Given the description of an element on the screen output the (x, y) to click on. 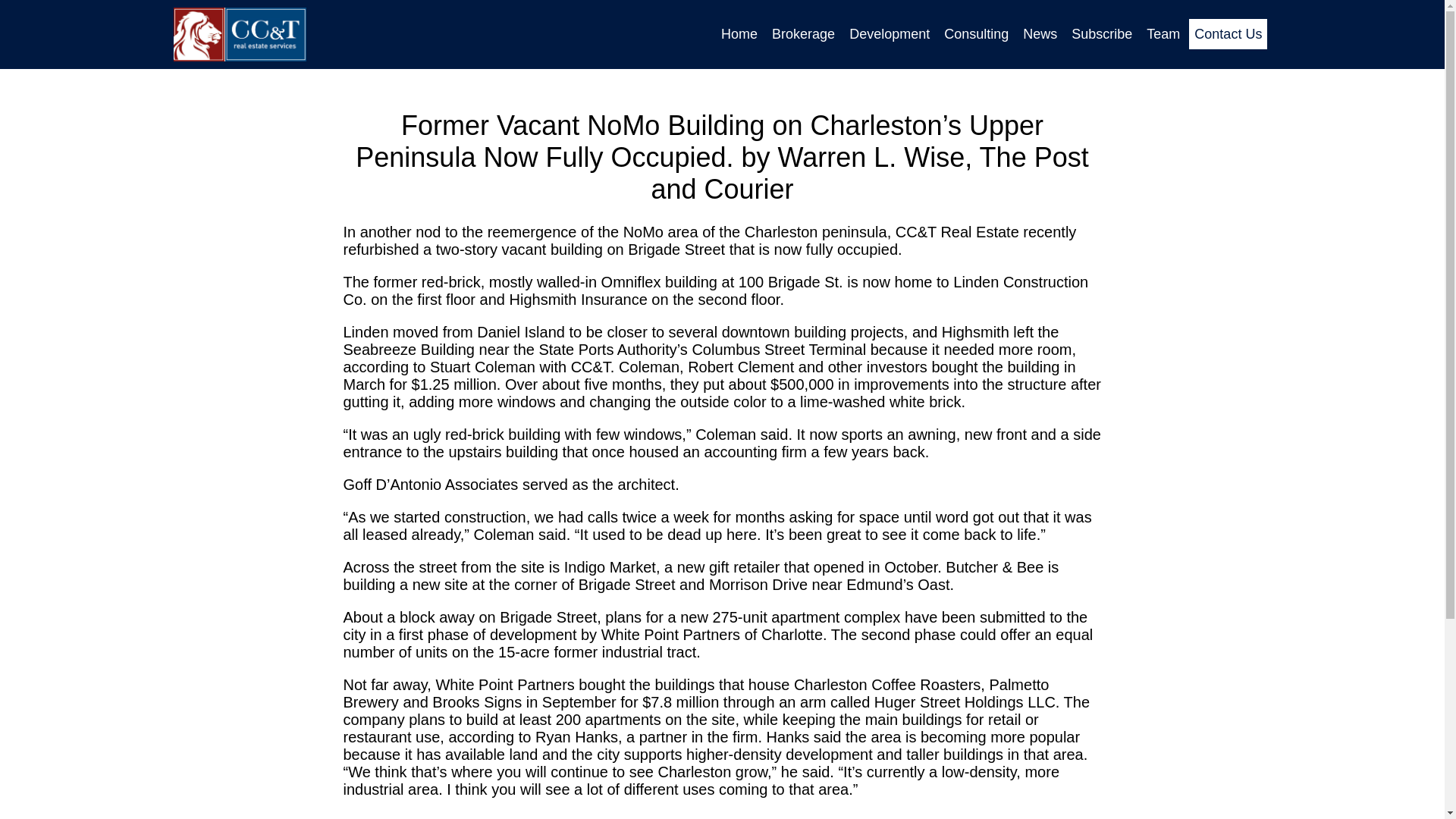
Consulting (976, 33)
Development (889, 33)
Contact Us (1227, 33)
Team (1163, 33)
Home (739, 33)
Subscribe (1101, 33)
News (1039, 33)
Brokerage (803, 33)
